Given the description of an element on the screen output the (x, y) to click on. 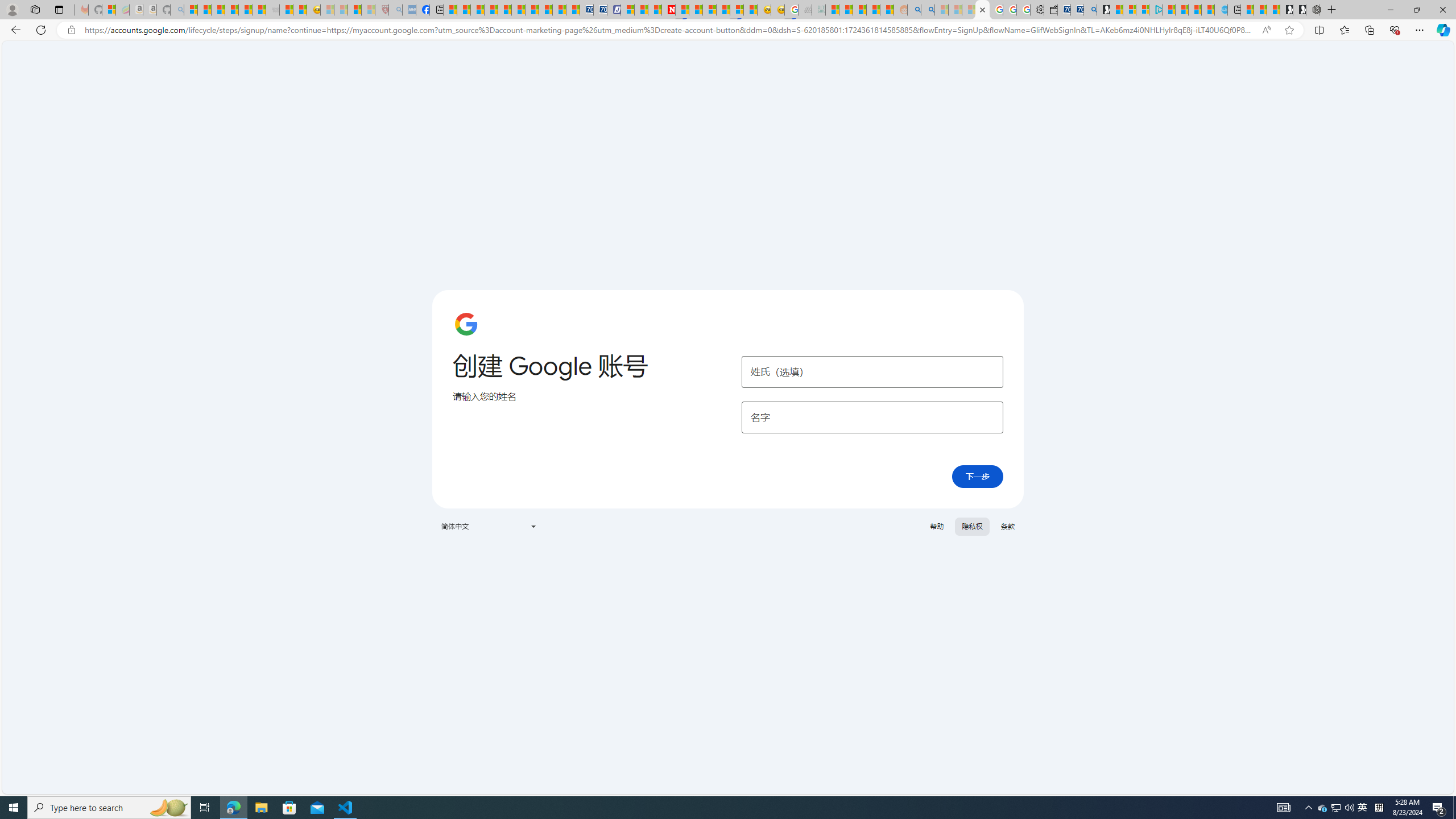
Student Loan Update: Forgiveness Program Ends This Month (873, 9)
